Given the description of an element on the screen output the (x, y) to click on. 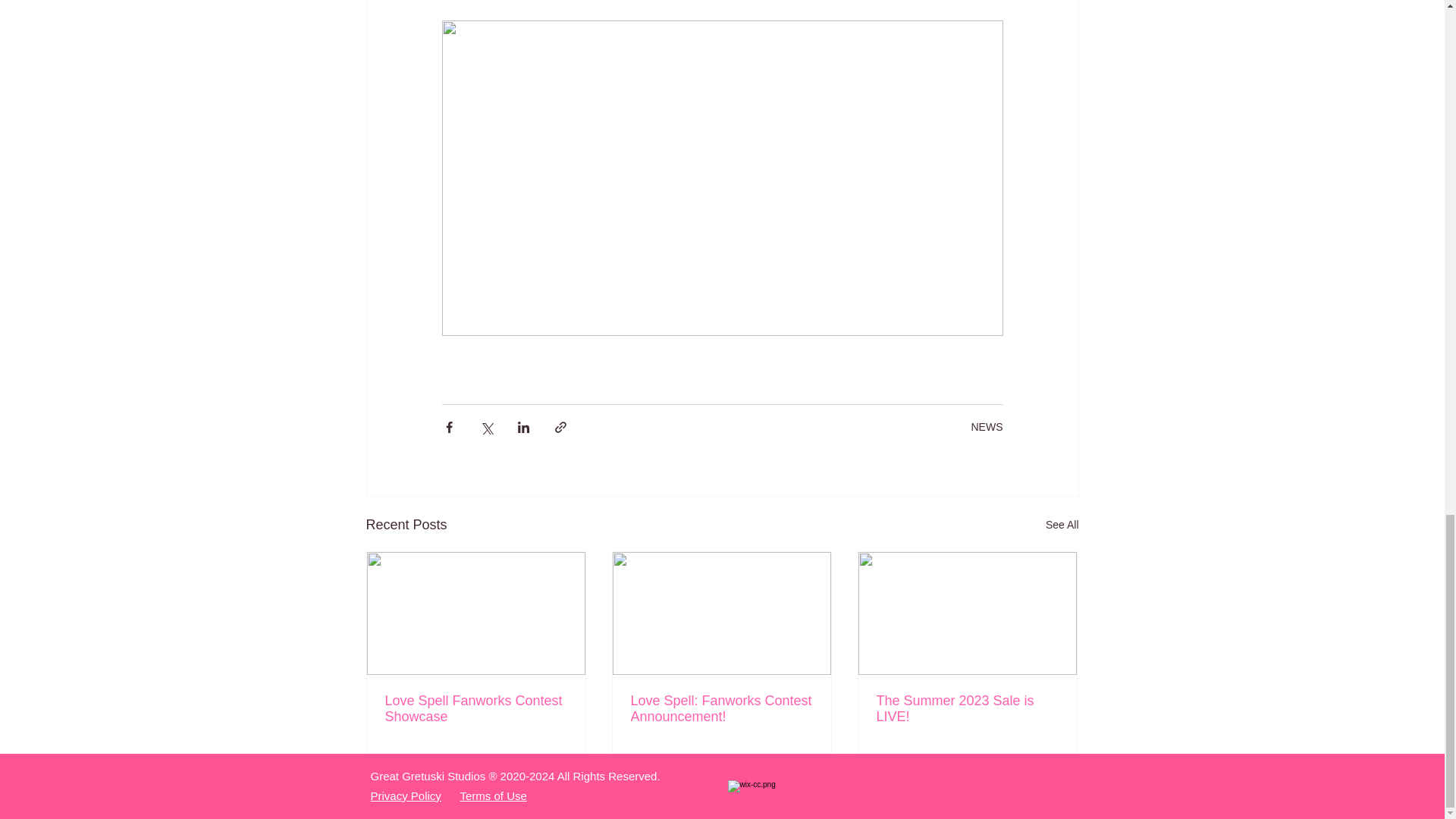
Privacy Policy (405, 795)
The Summer 2023 Sale is LIVE! (967, 708)
Terms of Use (492, 795)
NEWS (987, 426)
Love Spell: Fanworks Contest Announcement! (721, 708)
Love Spell Fanworks Contest Showcase (476, 708)
See All (1061, 525)
